Given the description of an element on the screen output the (x, y) to click on. 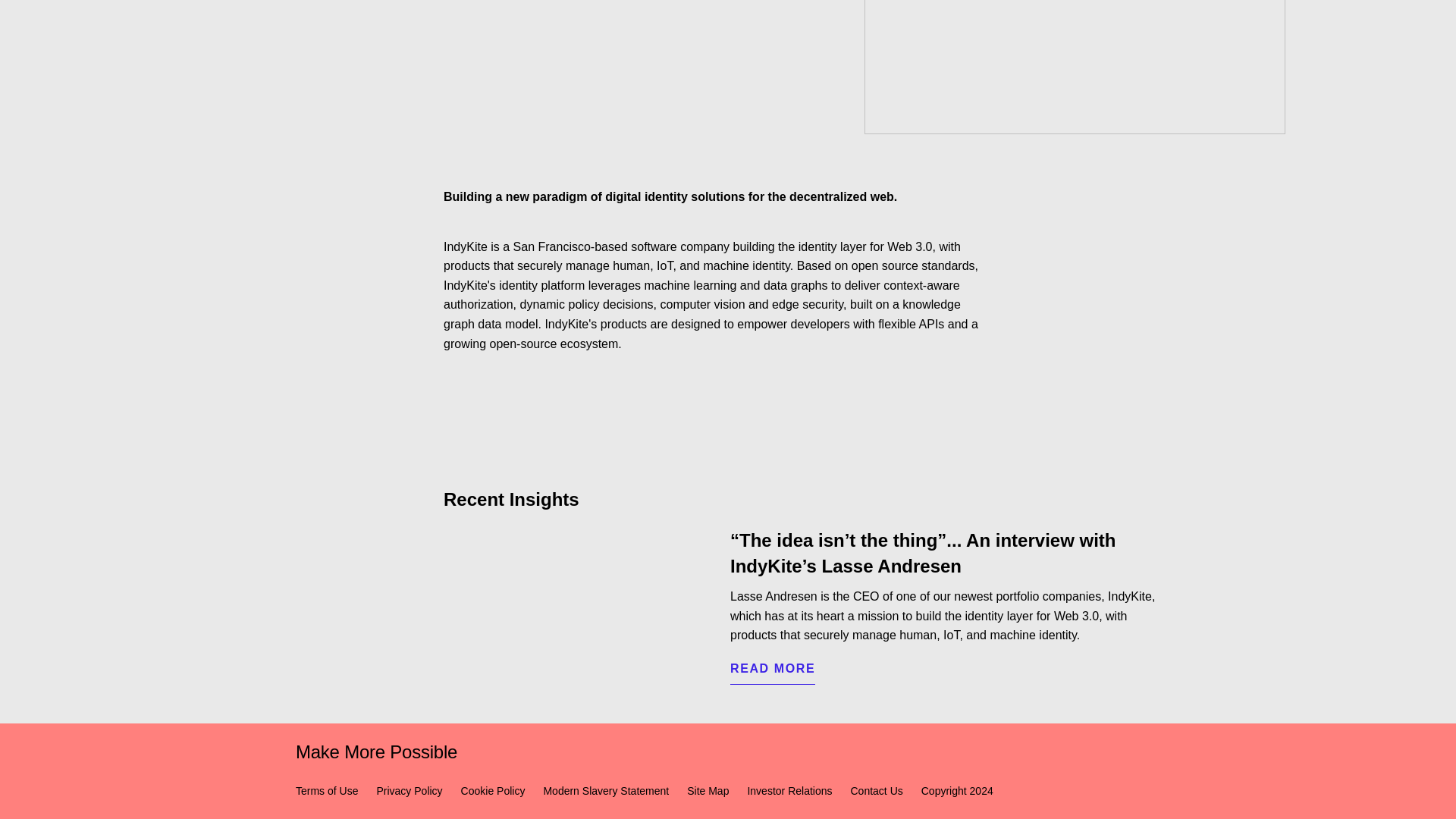
Terms of Use (326, 790)
Modern Slavery Statement (605, 790)
Contact Us (876, 790)
Cookie Policy (493, 790)
Privacy Policy (408, 790)
Site Map (708, 790)
Investor Relations (788, 790)
